Given the description of an element on the screen output the (x, y) to click on. 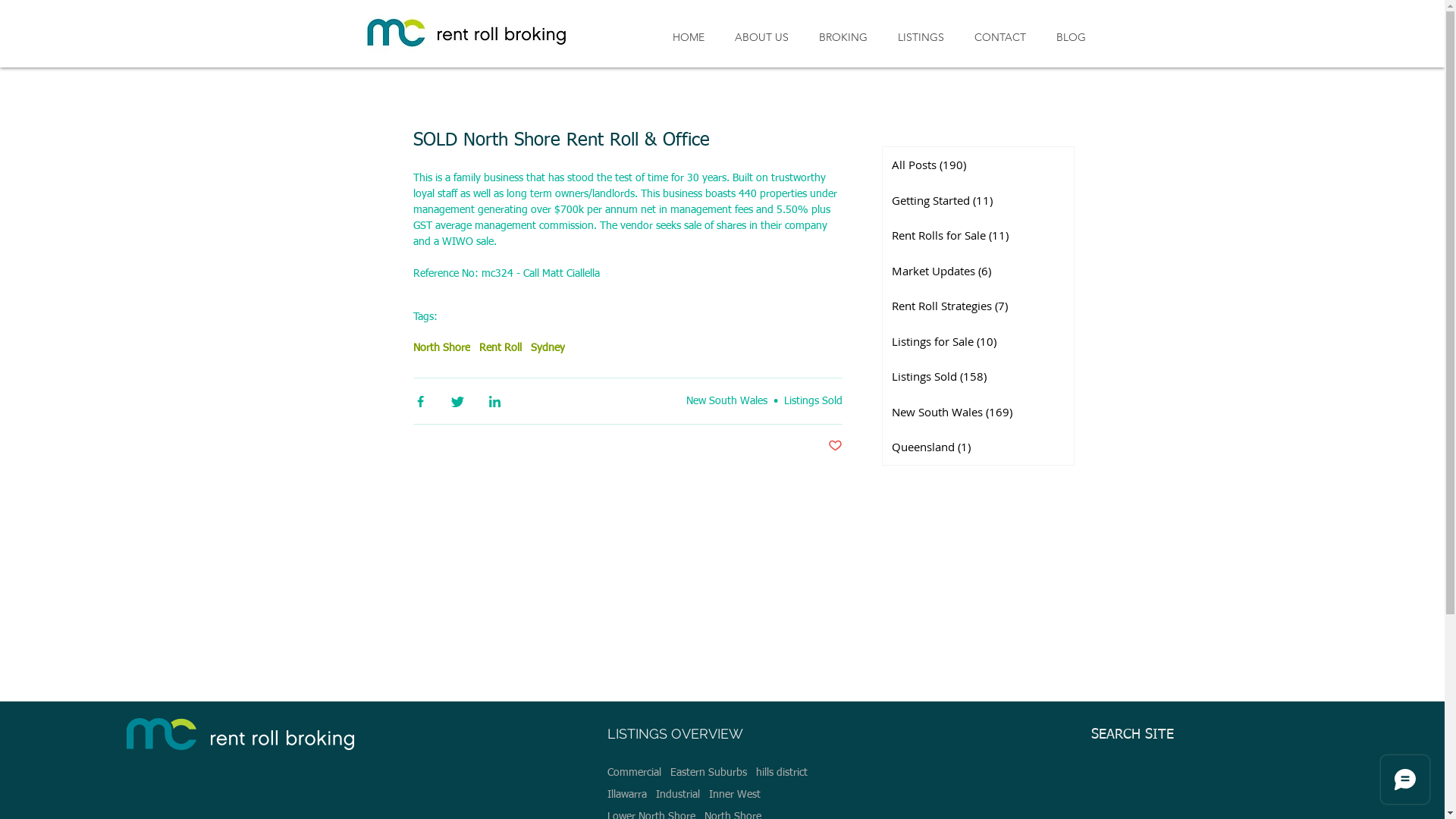
Queensland (1) Element type: text (977, 446)
Illawarra Element type: text (626, 794)
Sydney Element type: text (547, 348)
HOME Element type: text (687, 37)
Commercial Element type: text (634, 772)
Industrial Element type: text (677, 794)
All Posts (190) Element type: text (977, 164)
Post not marked as liked Element type: text (835, 446)
BLOG Element type: text (1070, 37)
Listings Sold Element type: text (813, 400)
hills district Element type: text (781, 772)
Listings Sold (158) Element type: text (977, 376)
Eastern Suburbs Element type: text (708, 772)
Rent Roll Element type: text (500, 348)
CONTACT Element type: text (999, 37)
New South Wales Element type: text (725, 400)
Inner West Element type: text (734, 794)
New South Wales (169) Element type: text (977, 411)
BROKING Element type: text (842, 37)
North Shore Element type: text (440, 348)
Rent Roll Strategies (7) Element type: text (977, 305)
Rent Rolls for Sale (11) Element type: text (977, 235)
Site Search Element type: hover (1166, 781)
Getting Started (11) Element type: text (977, 199)
LISTINGS Element type: text (920, 37)
Listings for Sale (10) Element type: text (977, 340)
ABOUT US Element type: text (760, 37)
Market Updates (6) Element type: text (977, 270)
